Given the description of an element on the screen output the (x, y) to click on. 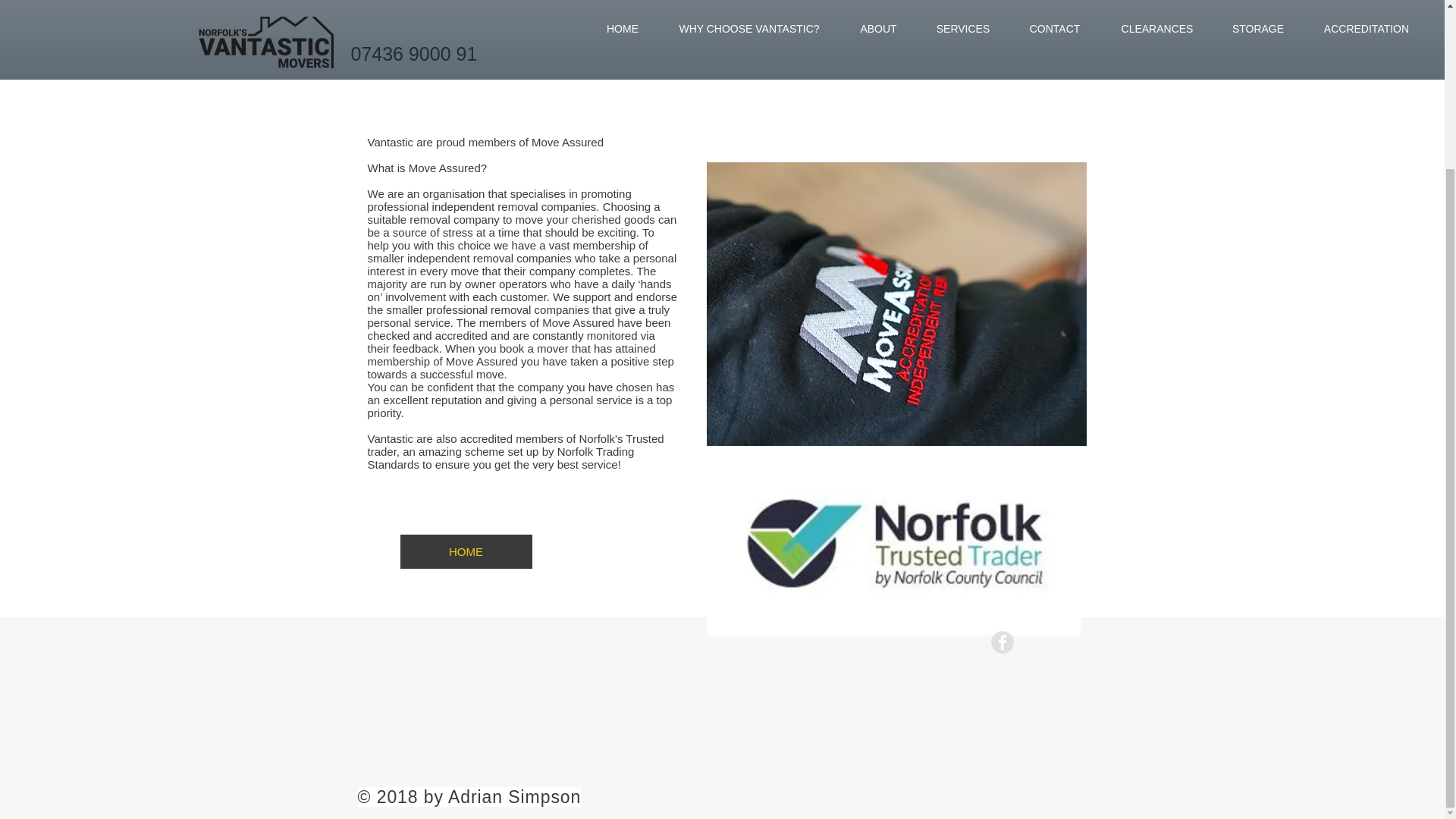
HOME (466, 551)
